Given the description of an element on the screen output the (x, y) to click on. 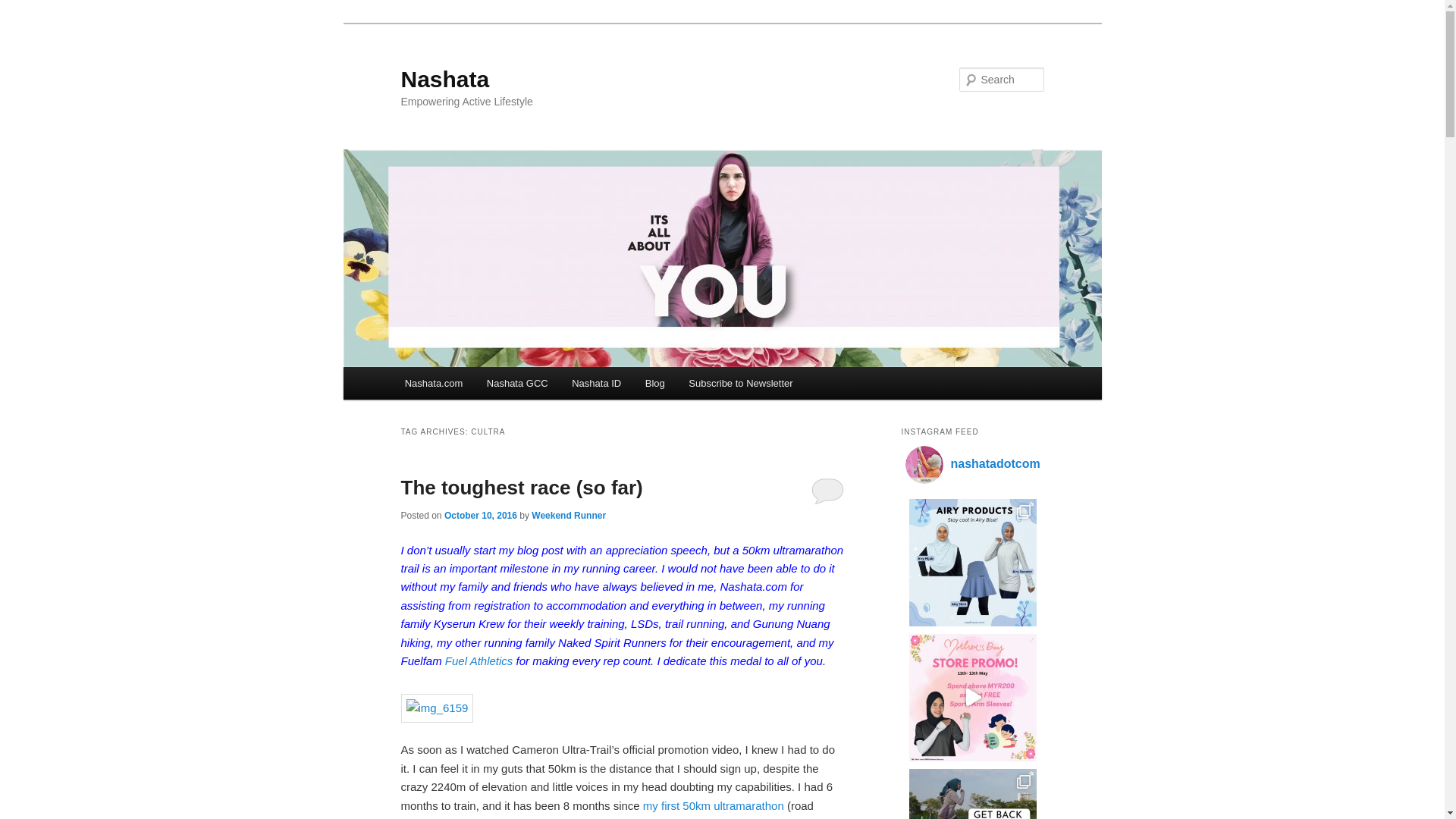
Weekend Runner (568, 515)
Search (24, 8)
View all posts by Weekend Runner (568, 515)
Nashata ID (596, 382)
Subscribe to Newsletter (741, 382)
October 10, 2016 (480, 515)
Blog (655, 382)
Nashata.com (433, 382)
Fuel Athletics (478, 660)
Nashata (444, 78)
Nashata GCC (516, 382)
my first 50km ultramarathon (713, 805)
4:05 pm (480, 515)
